Given the description of an element on the screen output the (x, y) to click on. 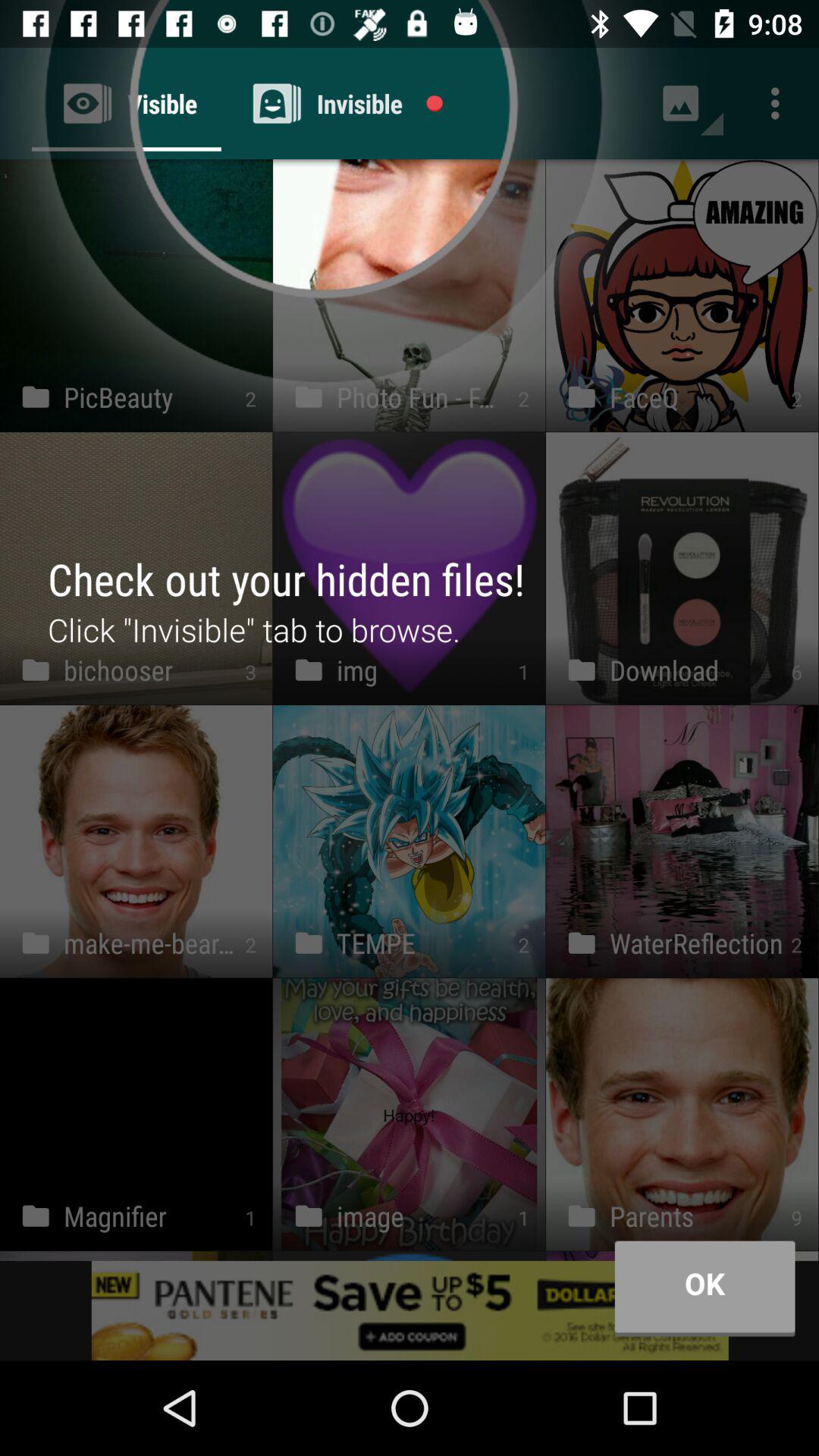
know about the advertisement (409, 1310)
